Given the description of an element on the screen output the (x, y) to click on. 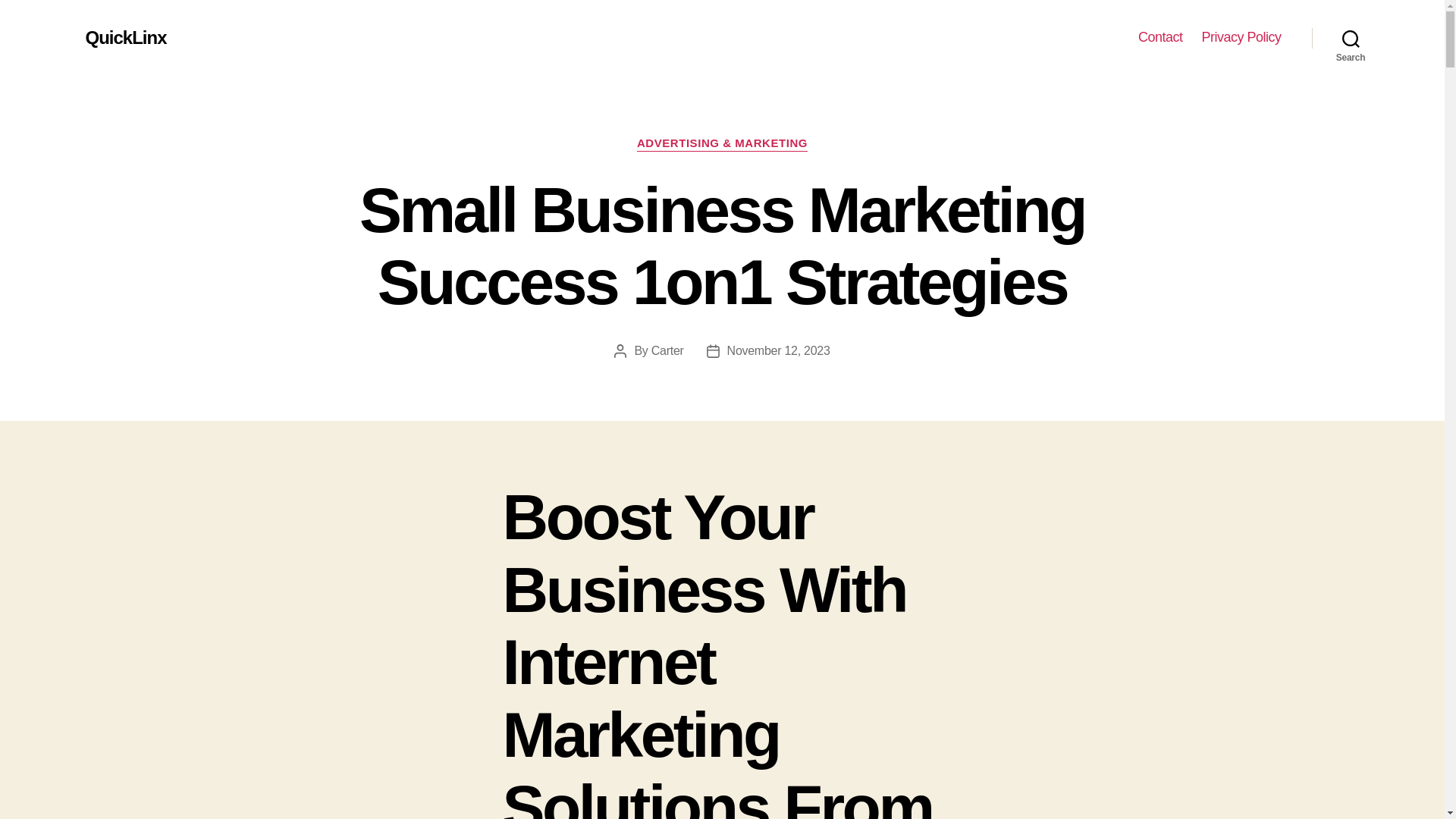
Privacy Policy (1241, 37)
QuickLinx (124, 37)
Carter (667, 350)
November 12, 2023 (777, 350)
Contact (1160, 37)
Search (1350, 37)
